Given the description of an element on the screen output the (x, y) to click on. 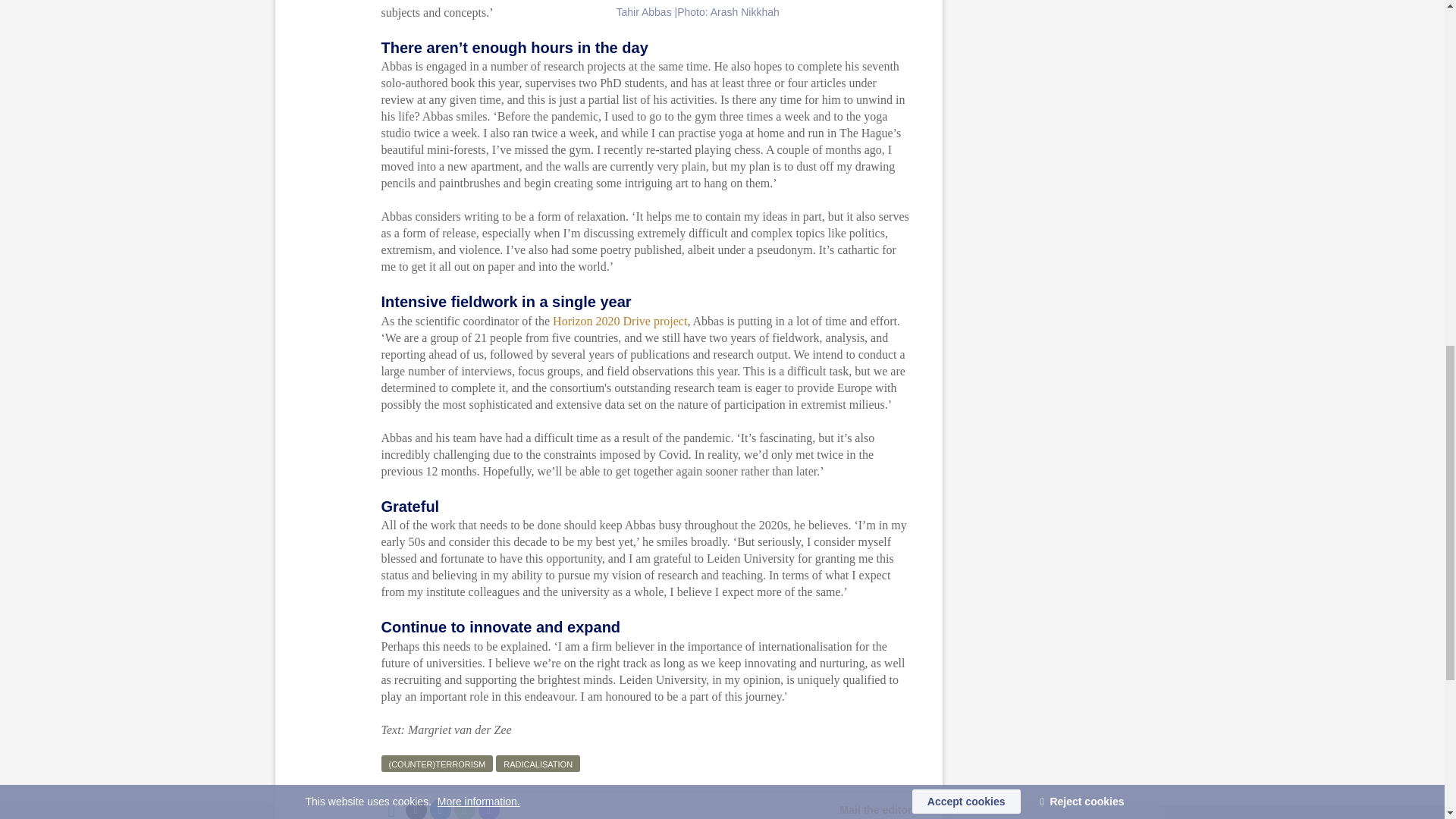
Share on LinkedIn (439, 809)
Share by Mastodon (488, 809)
Share on Facebook (390, 809)
Share by WhatsApp (463, 809)
Horizon 2020 Drive project (620, 320)
RADICALISATION (537, 763)
Share on X (415, 809)
